Given the description of an element on the screen output the (x, y) to click on. 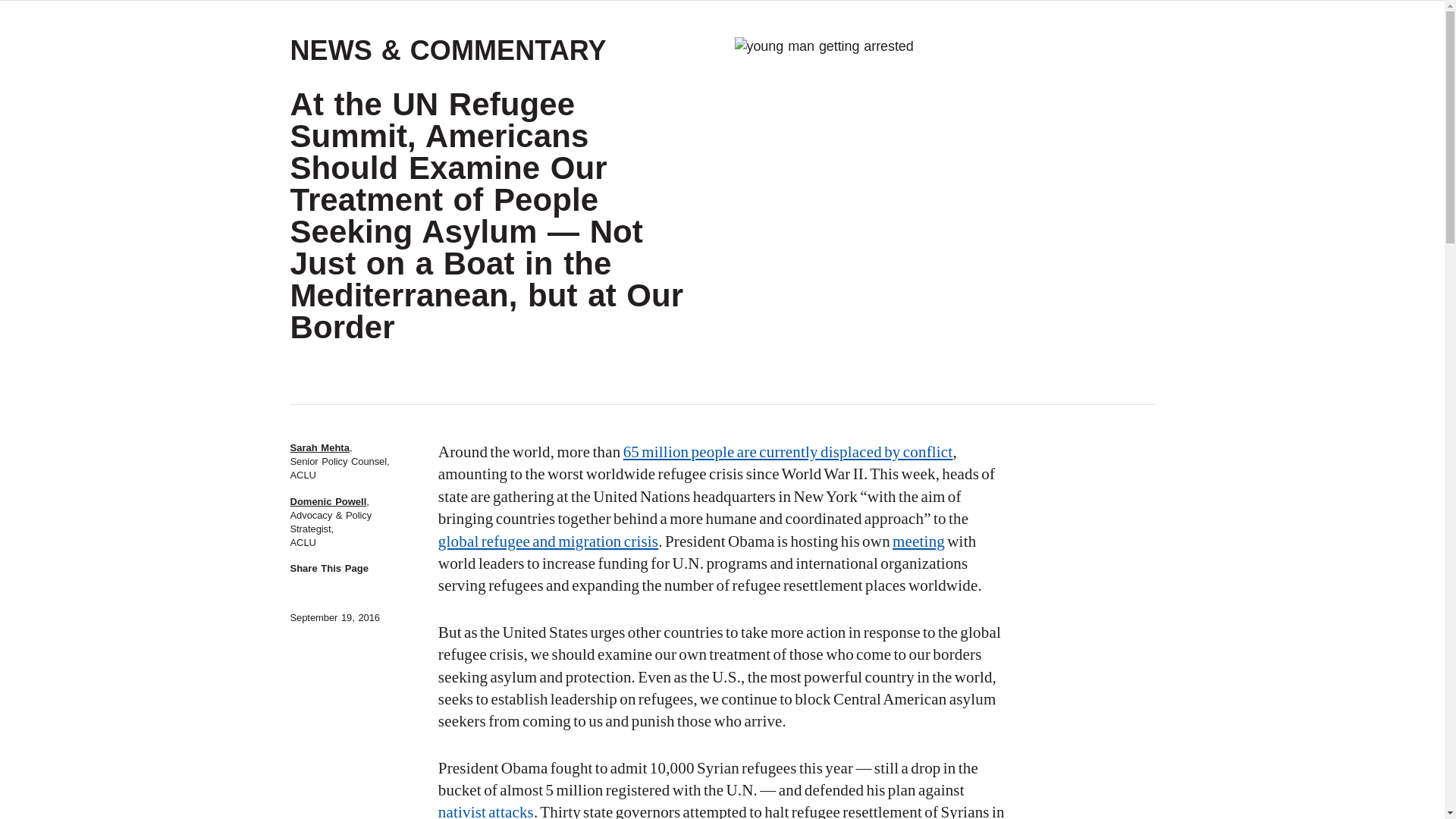
Sarah Mehta (319, 447)
Domenic Powell (327, 501)
65 million people are currently displaced by conflict (788, 452)
meeting (918, 541)
nativist attacks (486, 811)
global refugee and migration crisis (548, 541)
